Given the description of an element on the screen output the (x, y) to click on. 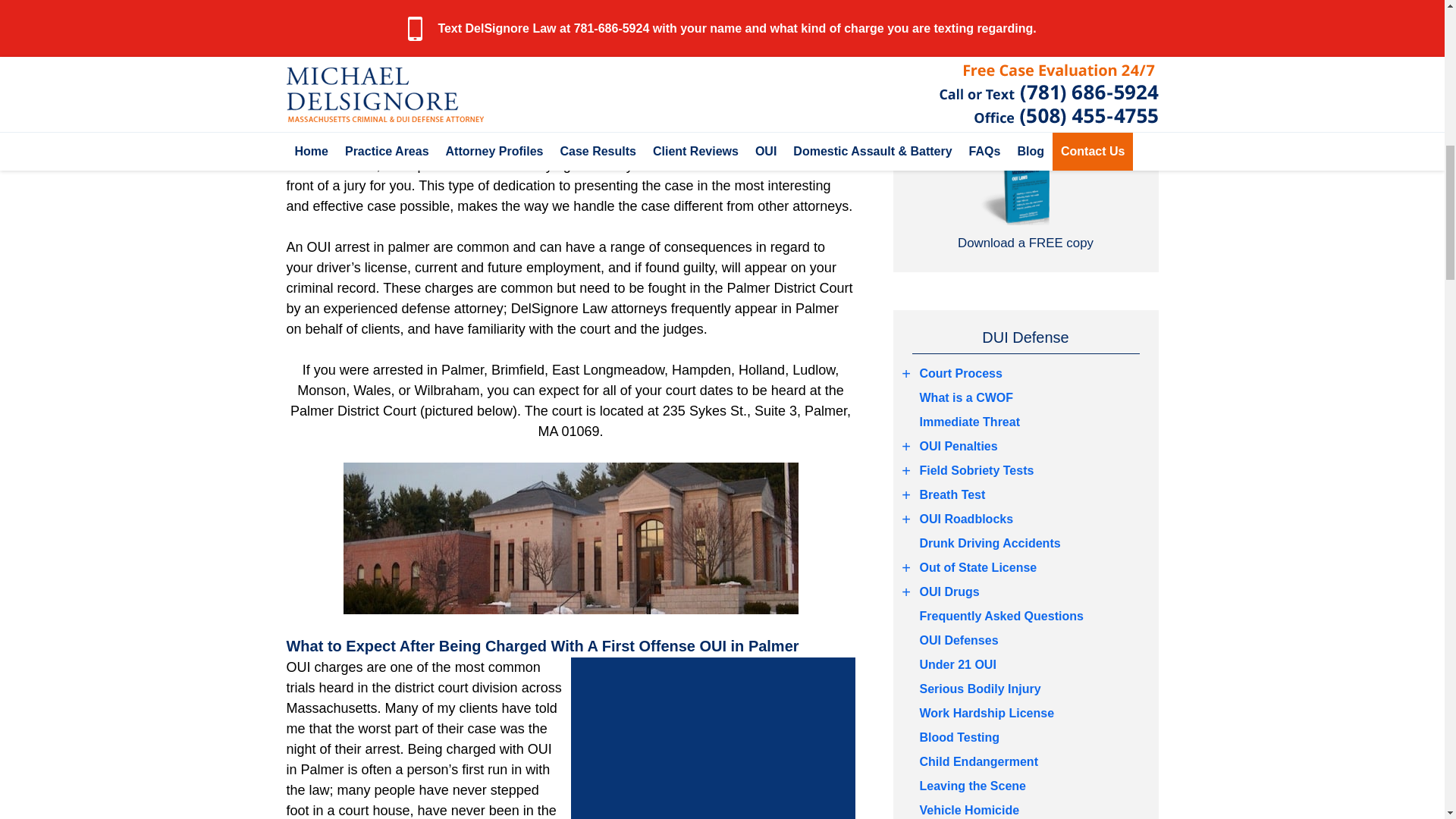
See More (906, 519)
See More (906, 591)
See More (906, 373)
See More (906, 567)
See More (906, 470)
See More (906, 446)
Search (1024, 16)
See More (906, 495)
